Given the description of an element on the screen output the (x, y) to click on. 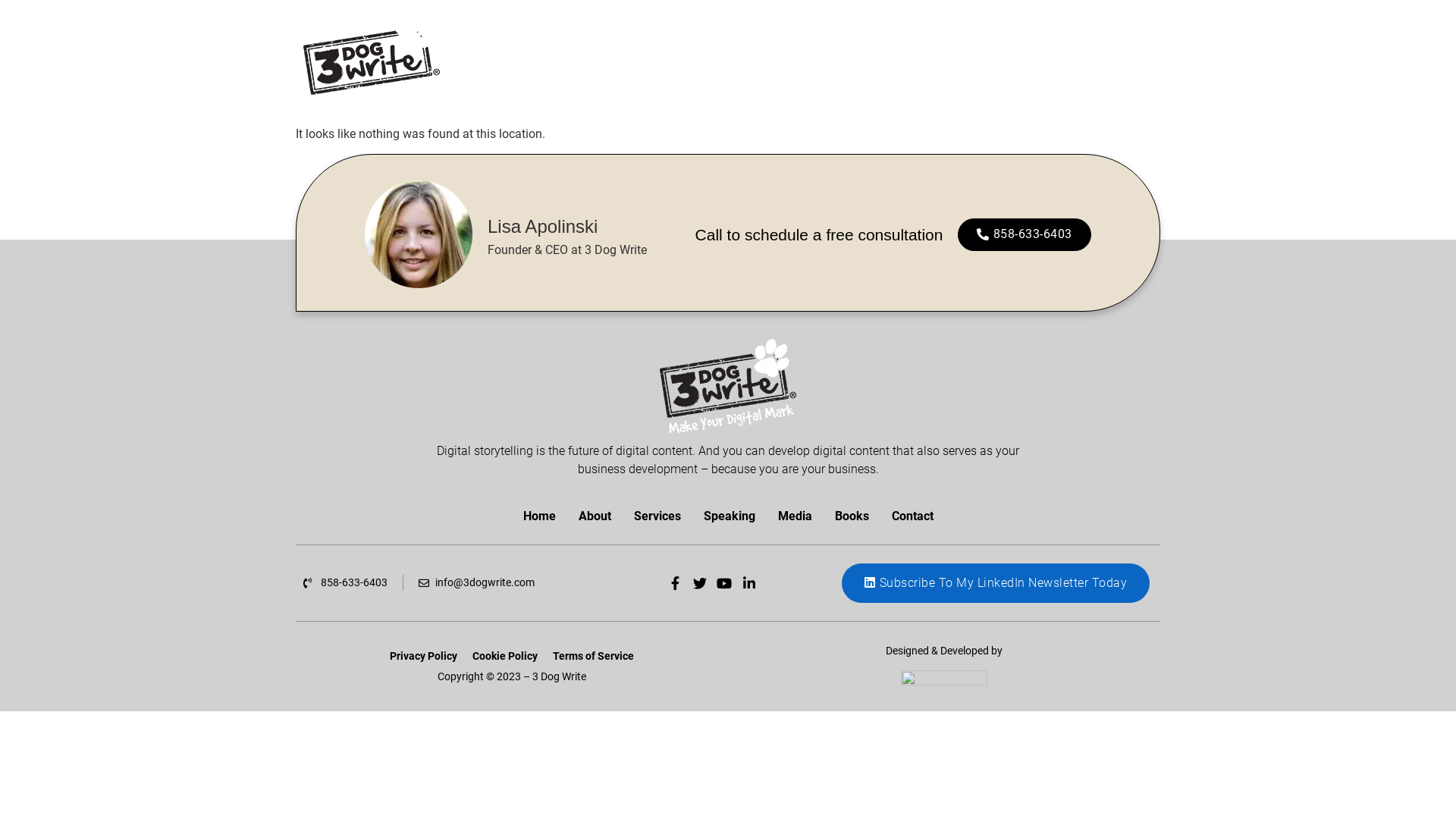
858-633-6403 Element type: text (1024, 234)
info@3dogwrite.com Element type: text (476, 582)
Media Element type: text (793, 515)
Subscribe To My LinkedIn Newsletter Today Element type: text (995, 582)
HOME Element type: text (702, 62)
About Element type: text (594, 515)
Contact Element type: text (911, 515)
SERVICES Element type: text (832, 62)
BOOKS Element type: text (1044, 62)
Books Element type: text (851, 515)
ABOUT Element type: text (762, 62)
SPEAKING Element type: text (912, 62)
Privacy Policy Element type: text (423, 655)
MEDIA Element type: text (983, 62)
858-633-6403 Element type: text (345, 582)
Terms of Service Element type: text (593, 655)
Speaking Element type: text (728, 515)
Services Element type: text (656, 515)
Cookie Policy Element type: text (504, 655)
CONTACT Element type: text (1113, 62)
Home Element type: text (538, 515)
